Given the description of an element on the screen output the (x, y) to click on. 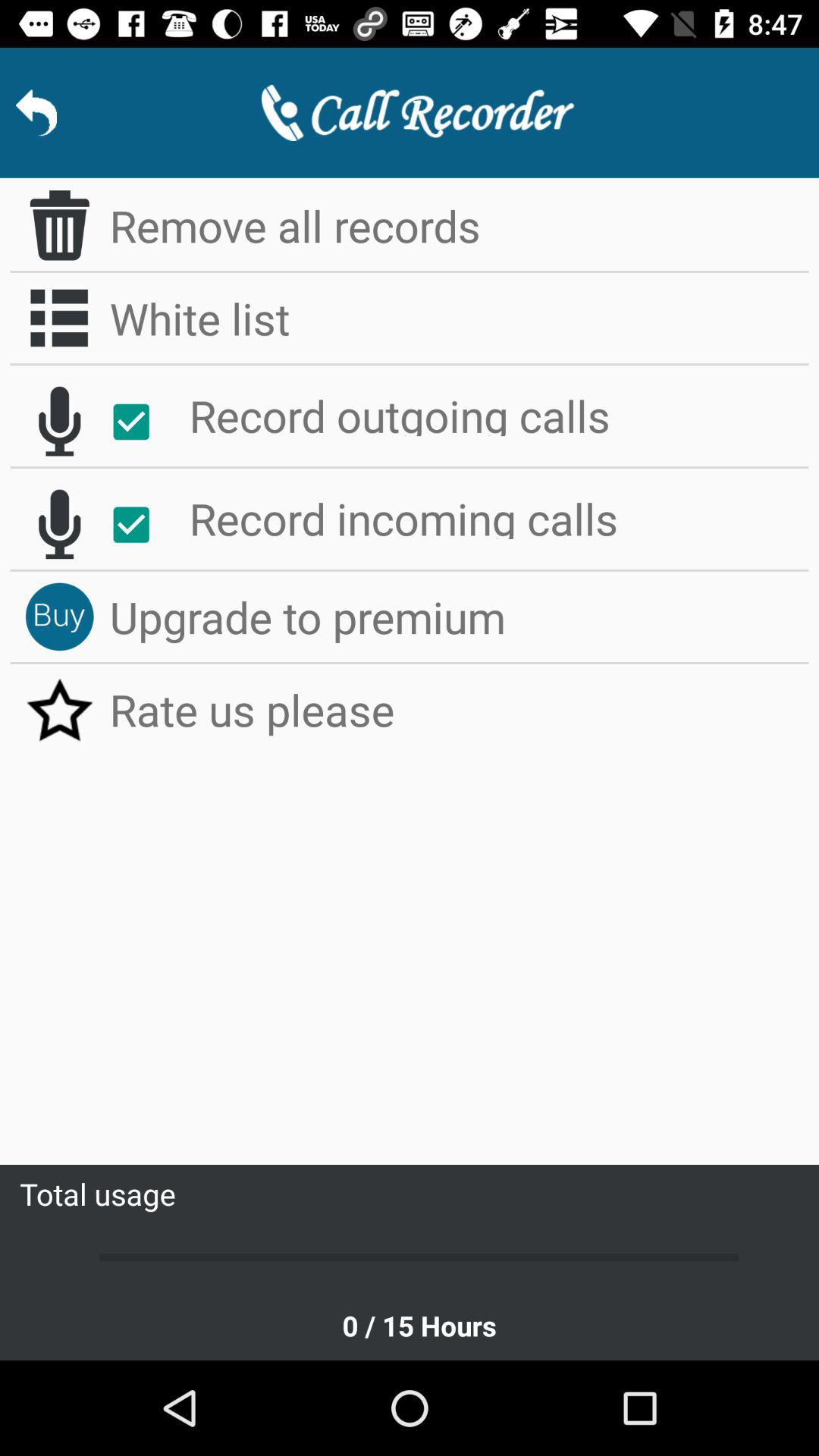
switch to previous page (35, 112)
